Given the description of an element on the screen output the (x, y) to click on. 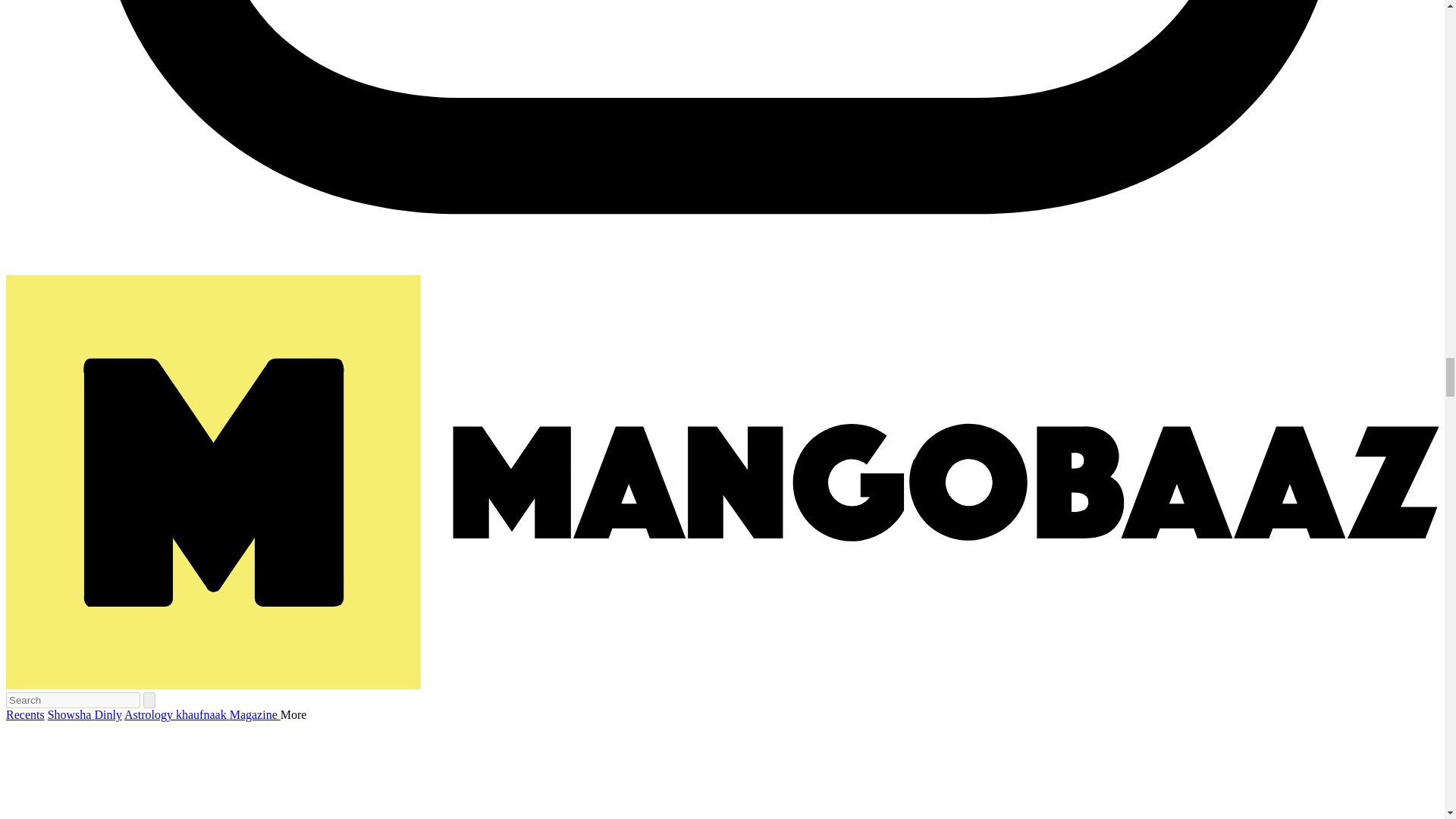
Astrology (149, 714)
khaufnaak (203, 714)
MangoBaaz Magazine (255, 714)
Showsha (71, 714)
Dinly (107, 714)
Recents (25, 714)
Magazine (255, 714)
